Given the description of an element on the screen output the (x, y) to click on. 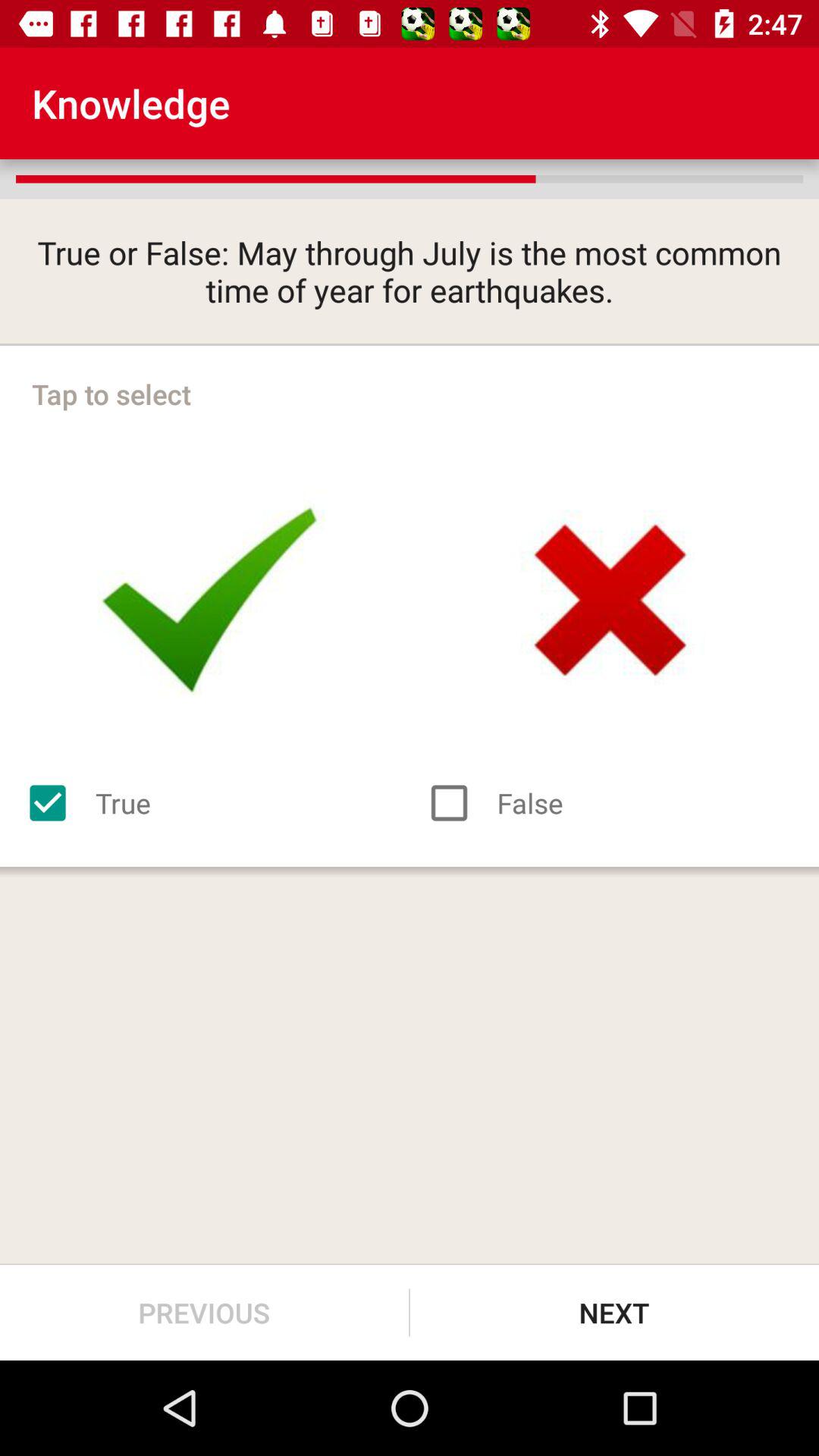
launch the previous at the bottom left corner (204, 1312)
